Given the description of an element on the screen output the (x, y) to click on. 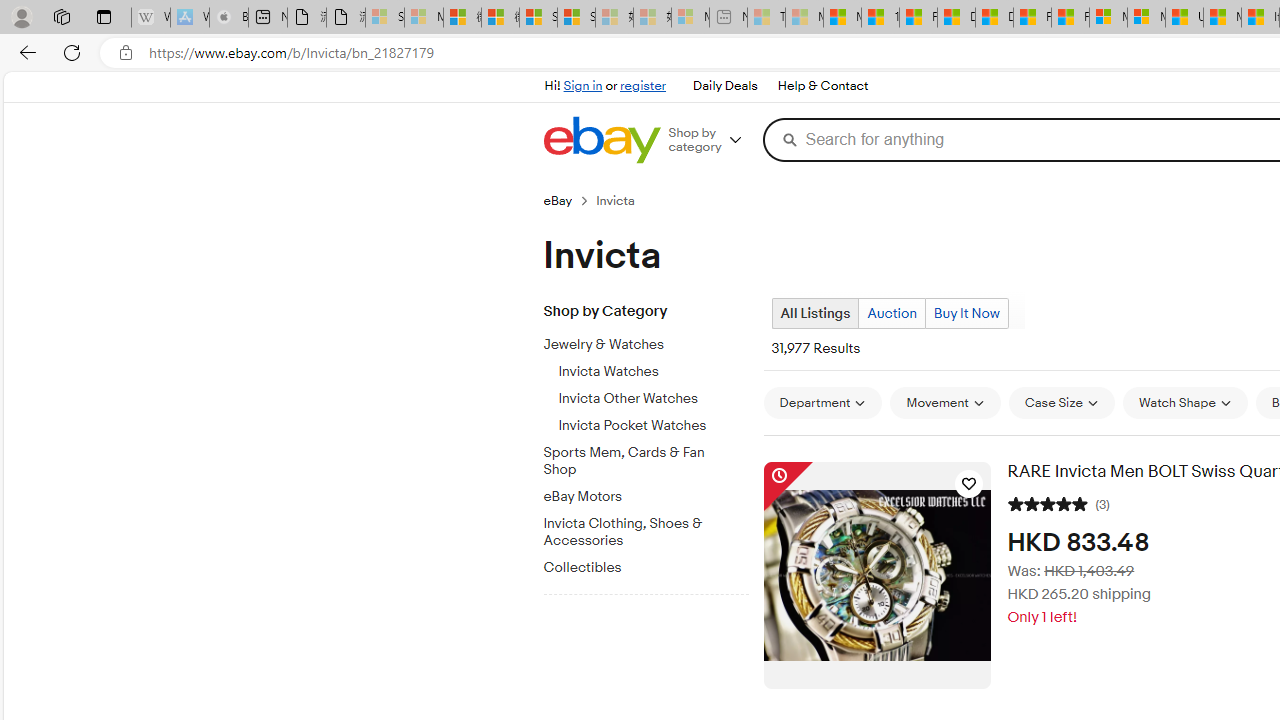
All Listings (814, 313)
Case Size (1061, 403)
Invicta Other Watches (653, 395)
Invicta Watches (653, 368)
Buy It Now (966, 313)
Auction (891, 313)
Buy It Now (966, 313)
eBay Motors (637, 497)
Sports Mem, Cards & Fan Shop (653, 458)
Invicta Pocket Watches (653, 422)
eBay Home (601, 139)
Drinking tea every day is proven to delay biological aging (993, 17)
